Given the description of an element on the screen output the (x, y) to click on. 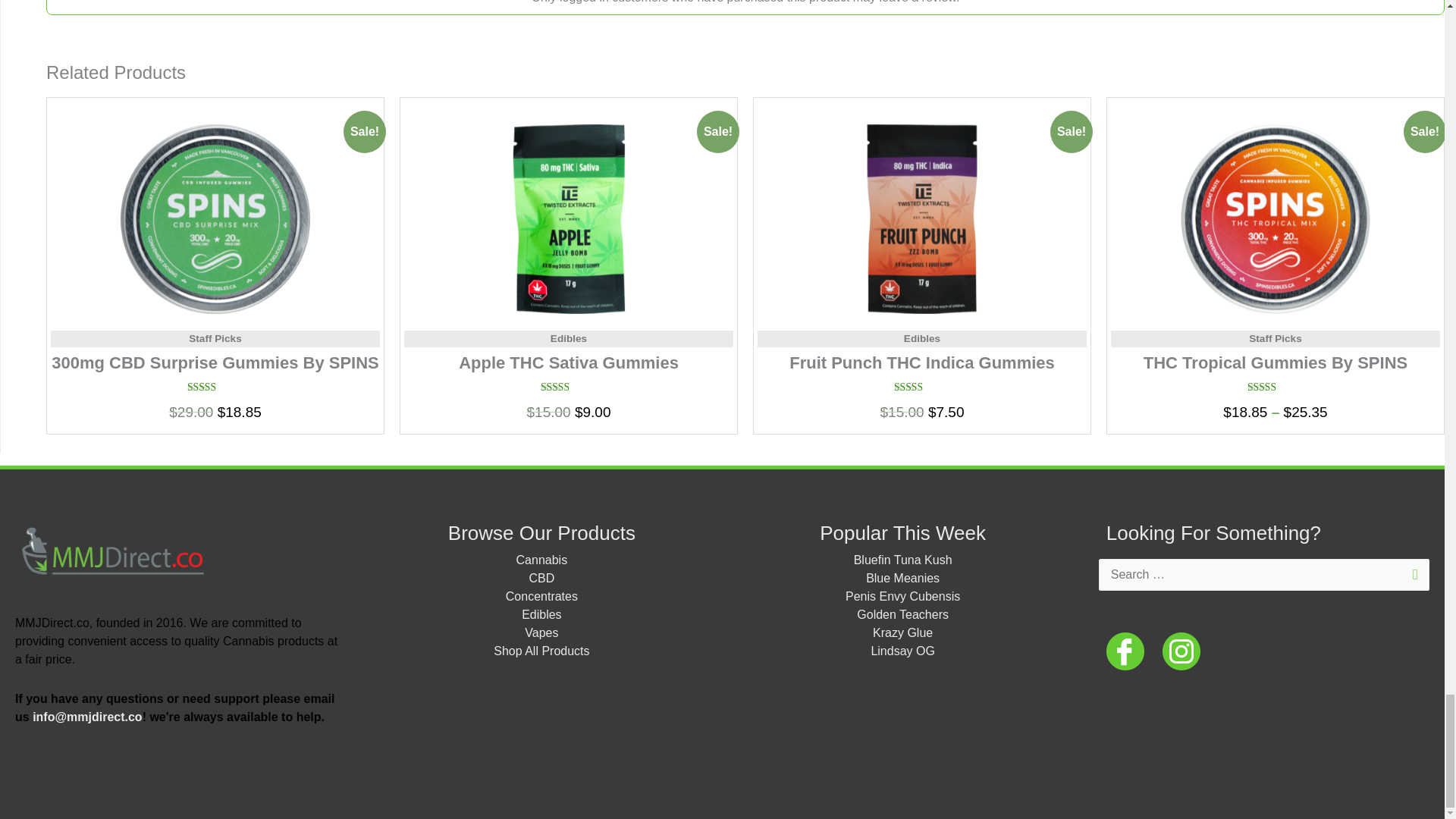
Visit our instagram (1181, 649)
Search (1411, 567)
Like our Facebook Page (1125, 649)
Search (1411, 567)
